Given the description of an element on the screen output the (x, y) to click on. 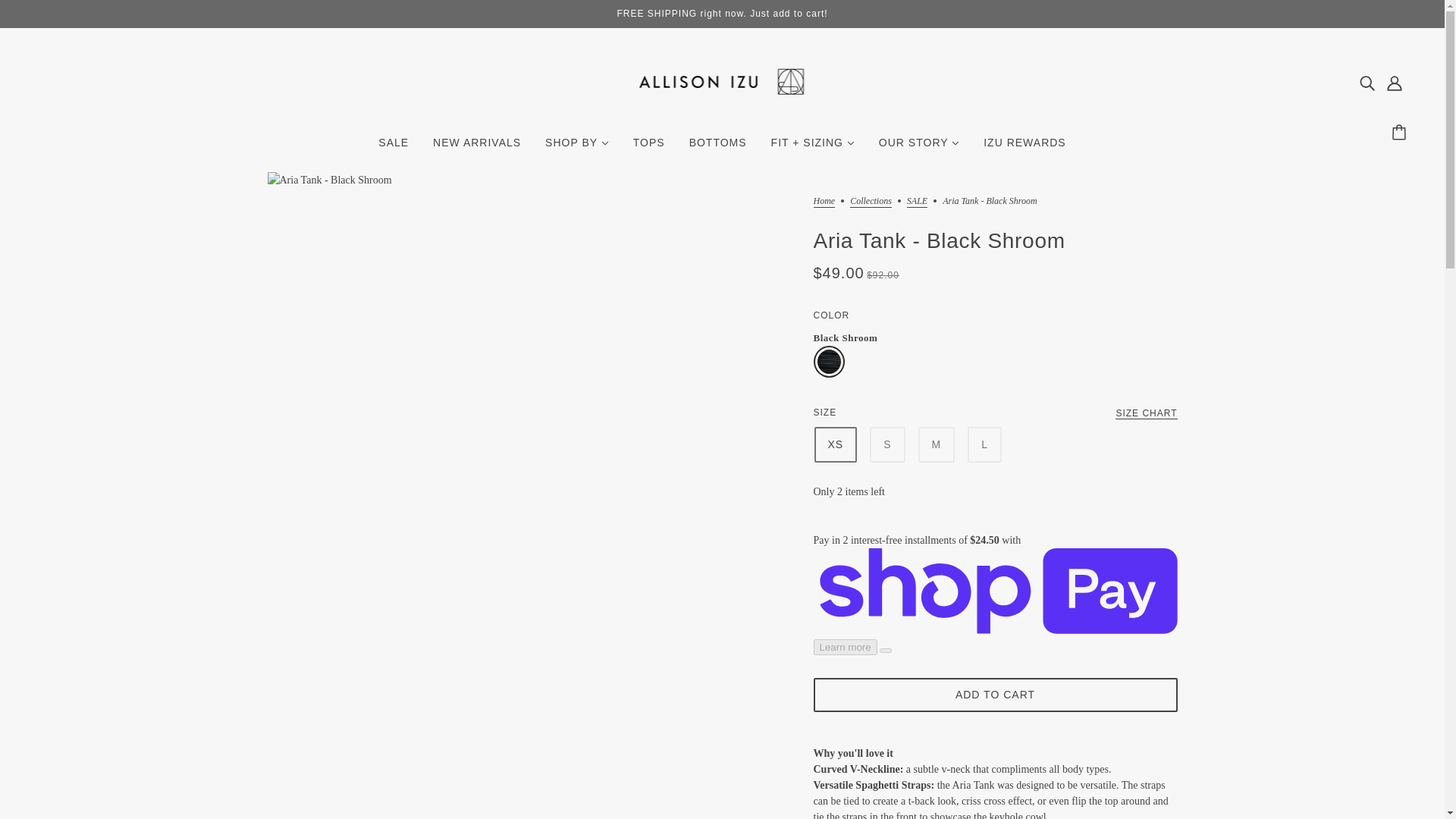
NEW ARRIVALS (476, 148)
TOPS (649, 148)
SHOP BY  (576, 148)
SALE (393, 148)
Allison Izu (721, 108)
OUR STORY  (918, 148)
Black Shroom (828, 361)
BOTTOMS (717, 148)
